Given the description of an element on the screen output the (x, y) to click on. 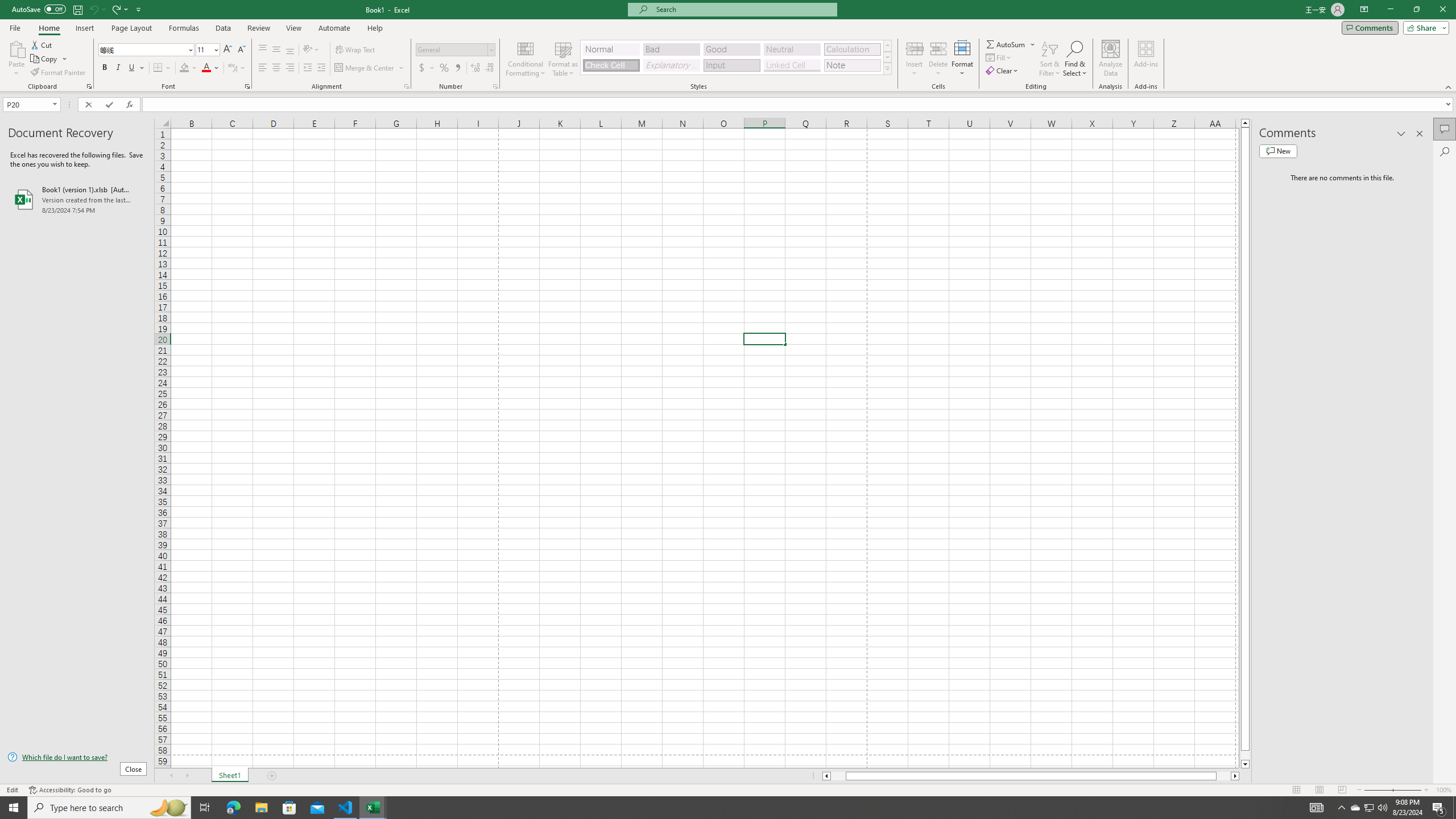
Percent Style (443, 67)
Accounting Number Format (422, 67)
Wrap Text (355, 49)
AutoSum (1011, 44)
Bottom Align (290, 49)
Increase Decimal (474, 67)
Increase Font Size (227, 49)
Show Phonetic Field (236, 67)
